Given the description of an element on the screen output the (x, y) to click on. 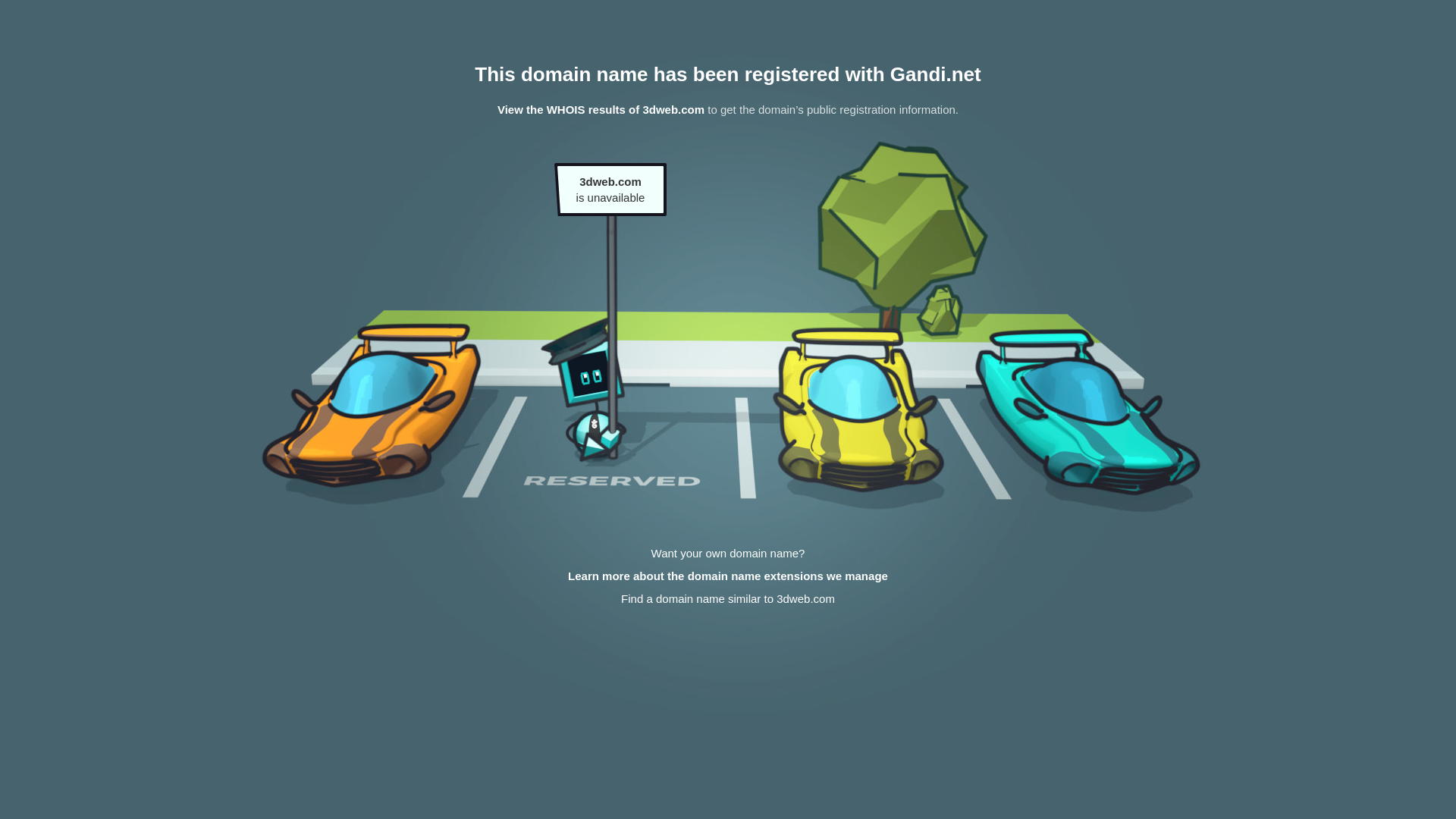
Find a domain name similar to 3dweb.com Element type: text (727, 598)
View the WHOIS results of 3dweb.com Element type: text (600, 109)
Learn more about the domain name extensions we manage Element type: text (727, 575)
